Given the description of an element on the screen output the (x, y) to click on. 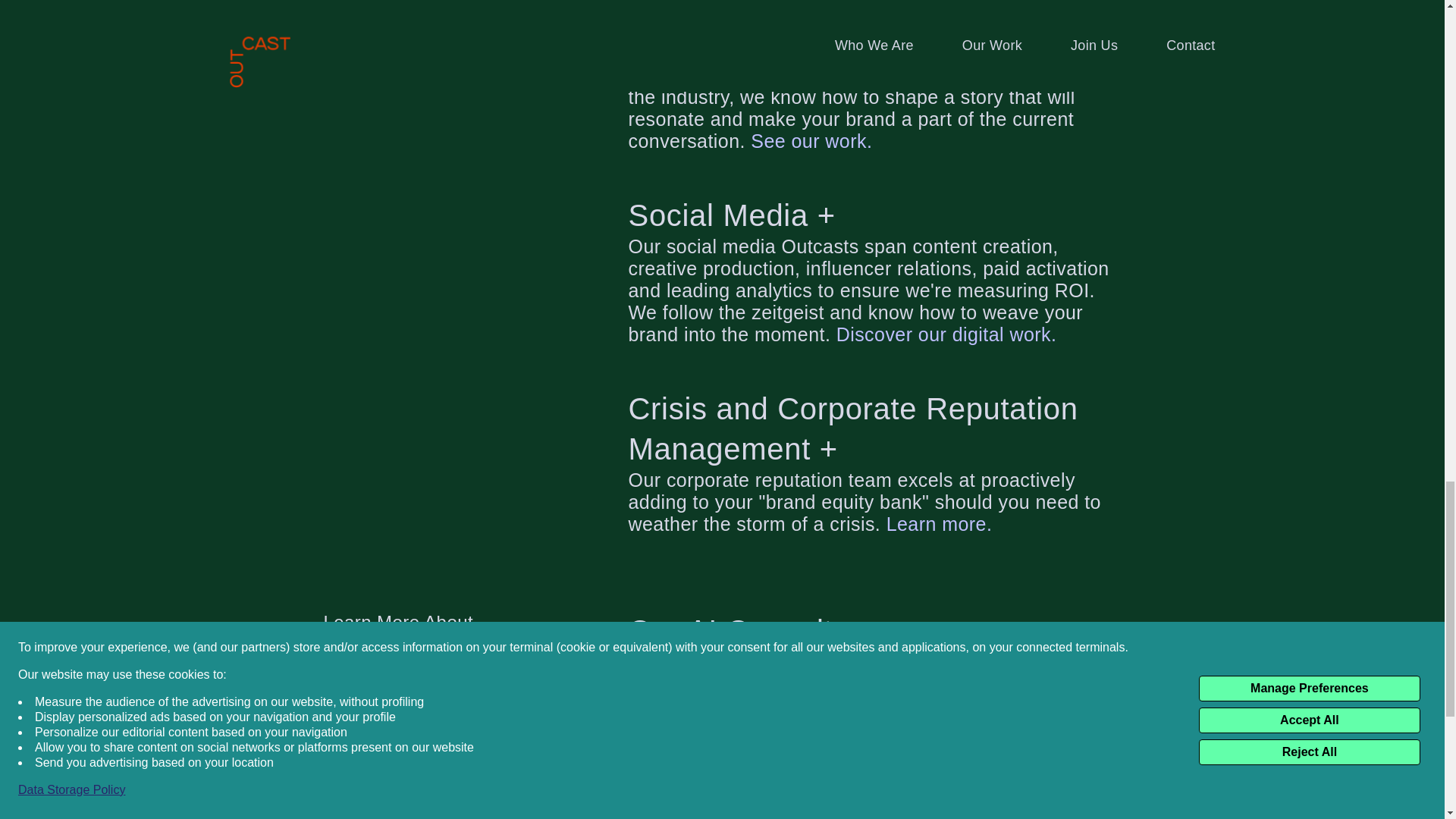
Discover our digital work. (946, 333)
Learn more. (939, 523)
Find out more. (761, 727)
See our work. (811, 140)
